Given the description of an element on the screen output the (x, y) to click on. 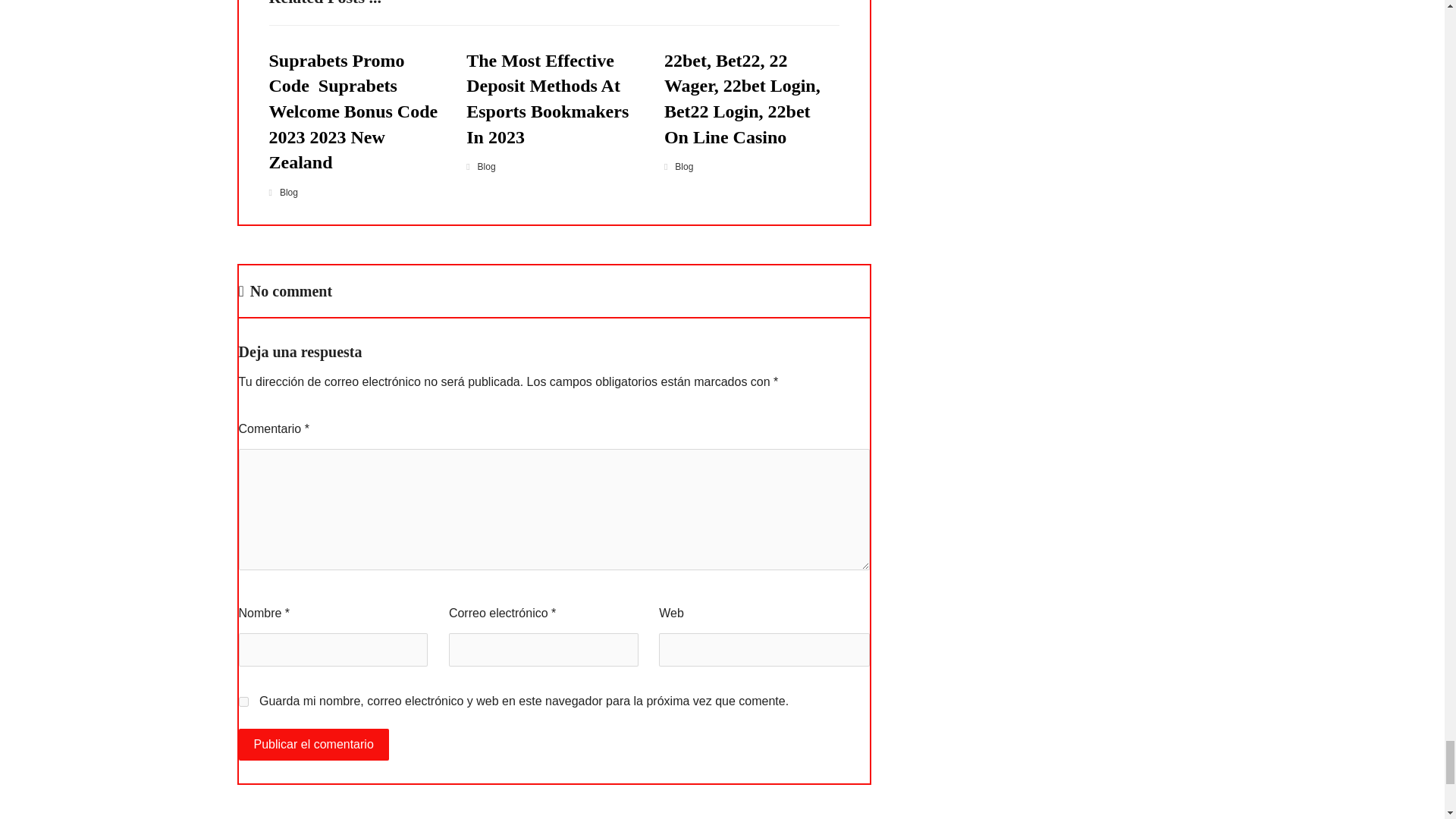
Blog (486, 166)
Blog (684, 166)
Publicar el comentario (313, 744)
Publicar el comentario (313, 744)
yes (242, 701)
Blog (288, 192)
